Given the description of an element on the screen output the (x, y) to click on. 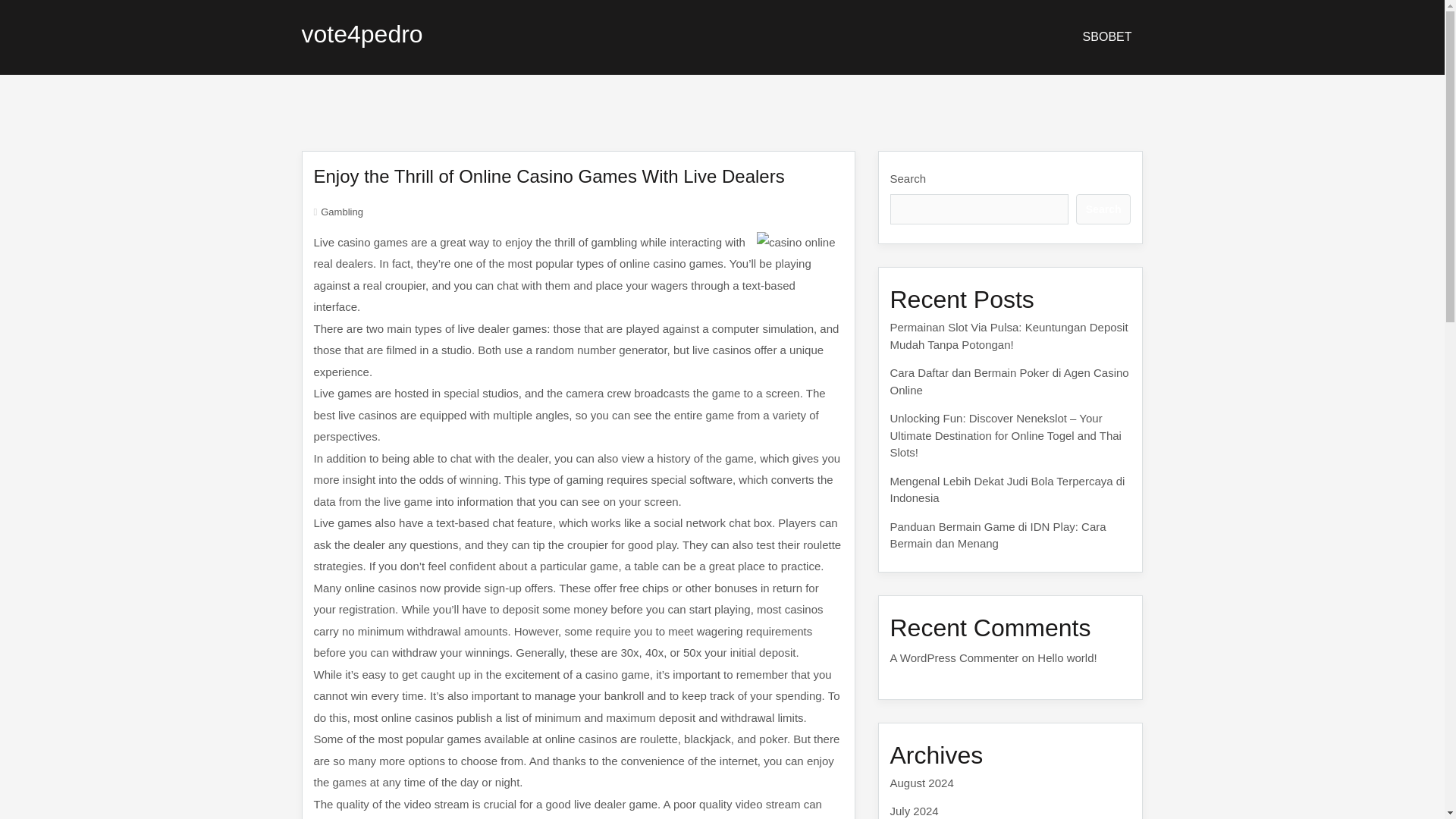
Enjoy the Thrill of Online Casino Games With Live Dealers (549, 176)
Hello world! (1066, 656)
A WordPress Commenter (954, 656)
July 2024 (914, 810)
Panduan Bermain Game di IDN Play: Cara Bermain dan Menang (997, 535)
SBOBET (1106, 36)
Search (1103, 209)
Mengenal Lebih Dekat Judi Bola Terpercaya di Indonesia (1007, 490)
August 2024 (921, 782)
